Given the description of an element on the screen output the (x, y) to click on. 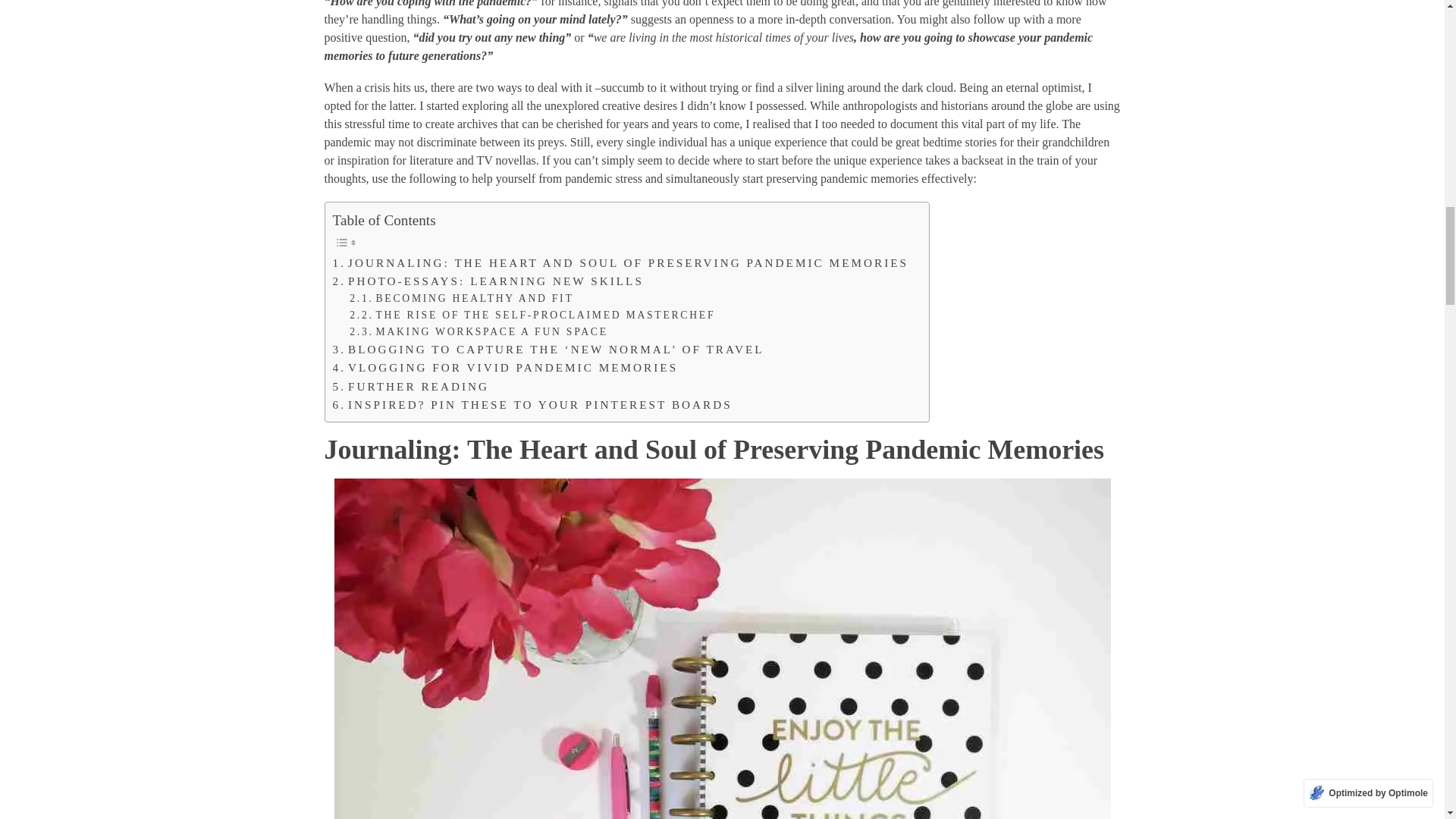
Making Workspace a Fun Space (478, 331)
Photo-Essays: Learning New Skills (487, 280)
The Rise of the Self-Proclaimed MasterChef (531, 315)
Further Reading (410, 386)
Vlogging for Vivid Pandemic Memories (504, 367)
Becoming Healthy and Fit (461, 298)
